Given the description of an element on the screen output the (x, y) to click on. 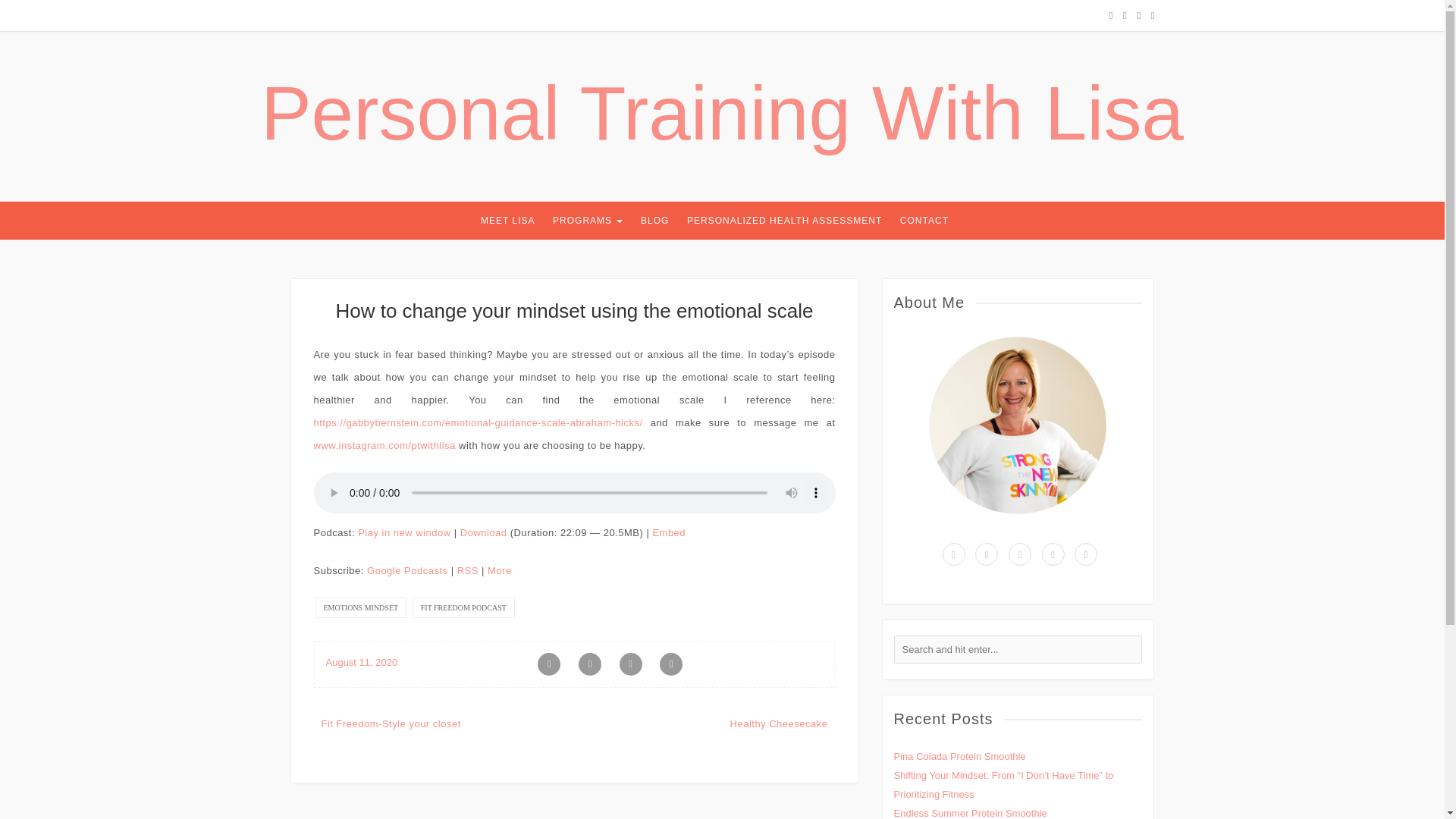
Fit Freedom-Style your closet (391, 723)
PERSONALIZED HEALTH ASSESSMENT (784, 220)
Google Podcasts (407, 570)
Play in new window (403, 532)
Embed (668, 532)
Pina Colada Protein Smoothie (959, 756)
Contact (924, 220)
More (499, 570)
Personalized Health Assessment (784, 220)
Meet Lisa (507, 220)
MEET LISA (507, 220)
Healthy Cheesecake (779, 723)
Personal Training With Lisa (721, 112)
EMOTIONS MINDSET (361, 607)
FIT FREEDOM PODCAST (463, 607)
